Given the description of an element on the screen output the (x, y) to click on. 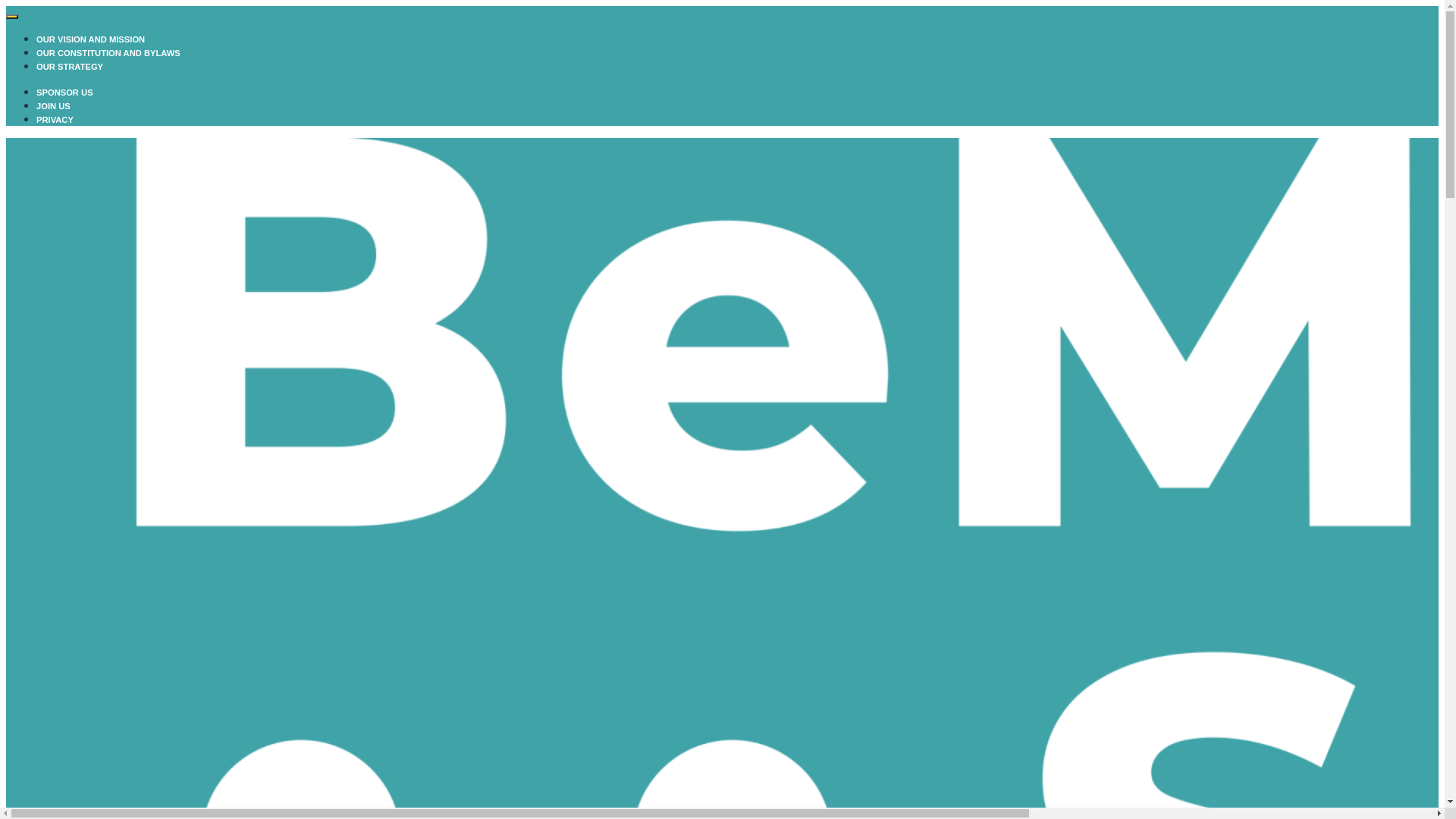
OUR CONSTITUTION AND BYLAWS Element type: text (108, 52)
OUR VISION AND MISSION Element type: text (90, 38)
OUR STRATEGY Element type: text (69, 66)
PRIVACY Element type: text (54, 119)
JOIN US Element type: text (53, 105)
SPONSOR US Element type: text (64, 92)
Skip to content Element type: text (5, 5)
